Given the description of an element on the screen output the (x, y) to click on. 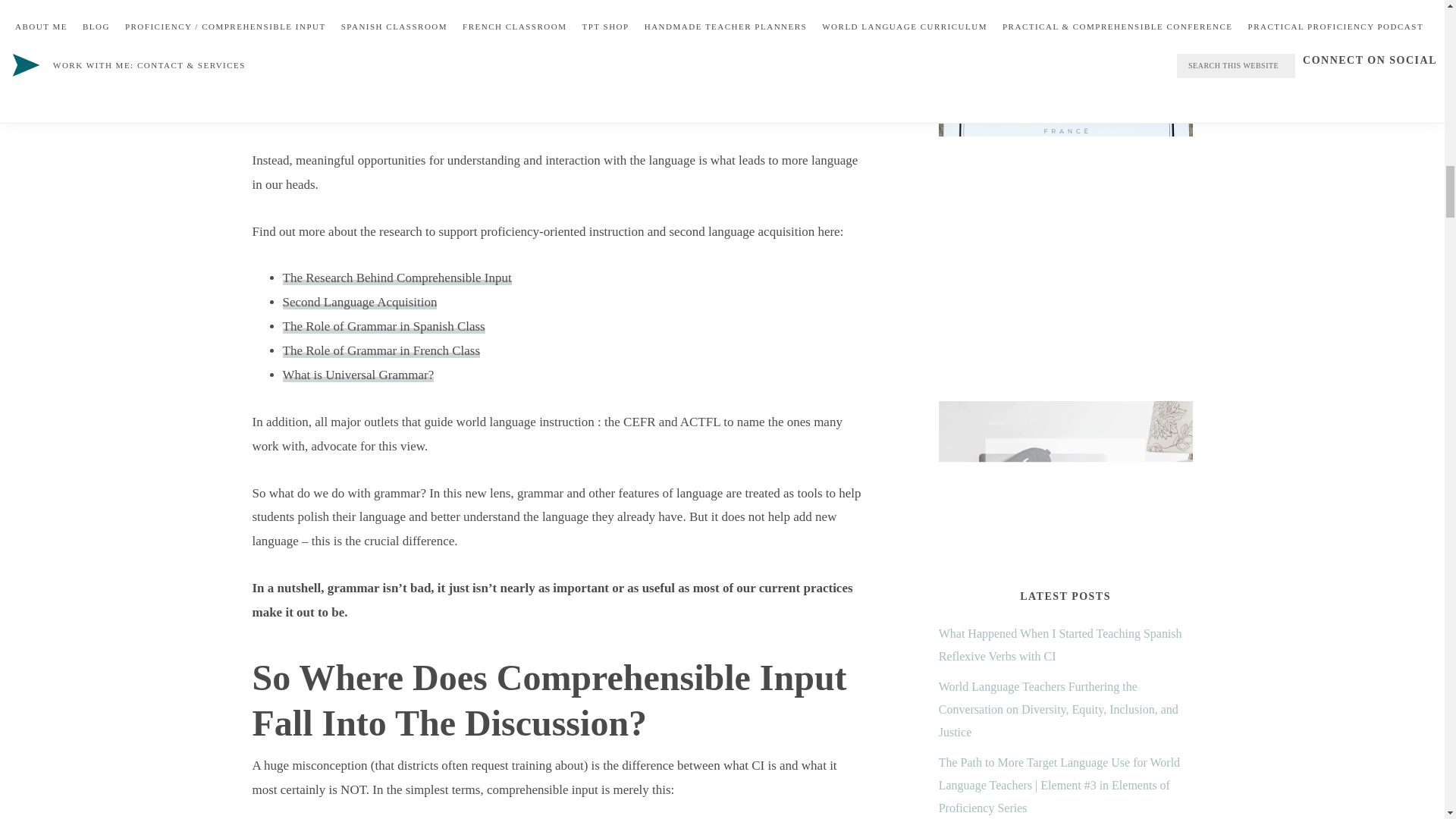
What is Universal Grammar? (357, 374)
Second Language Acquisition (359, 301)
The Role of Grammar in Spanish Class (383, 326)
The Role of Grammar in French Class (381, 350)
The Research Behind Comprehensible Input (396, 278)
